Given the description of an element on the screen output the (x, y) to click on. 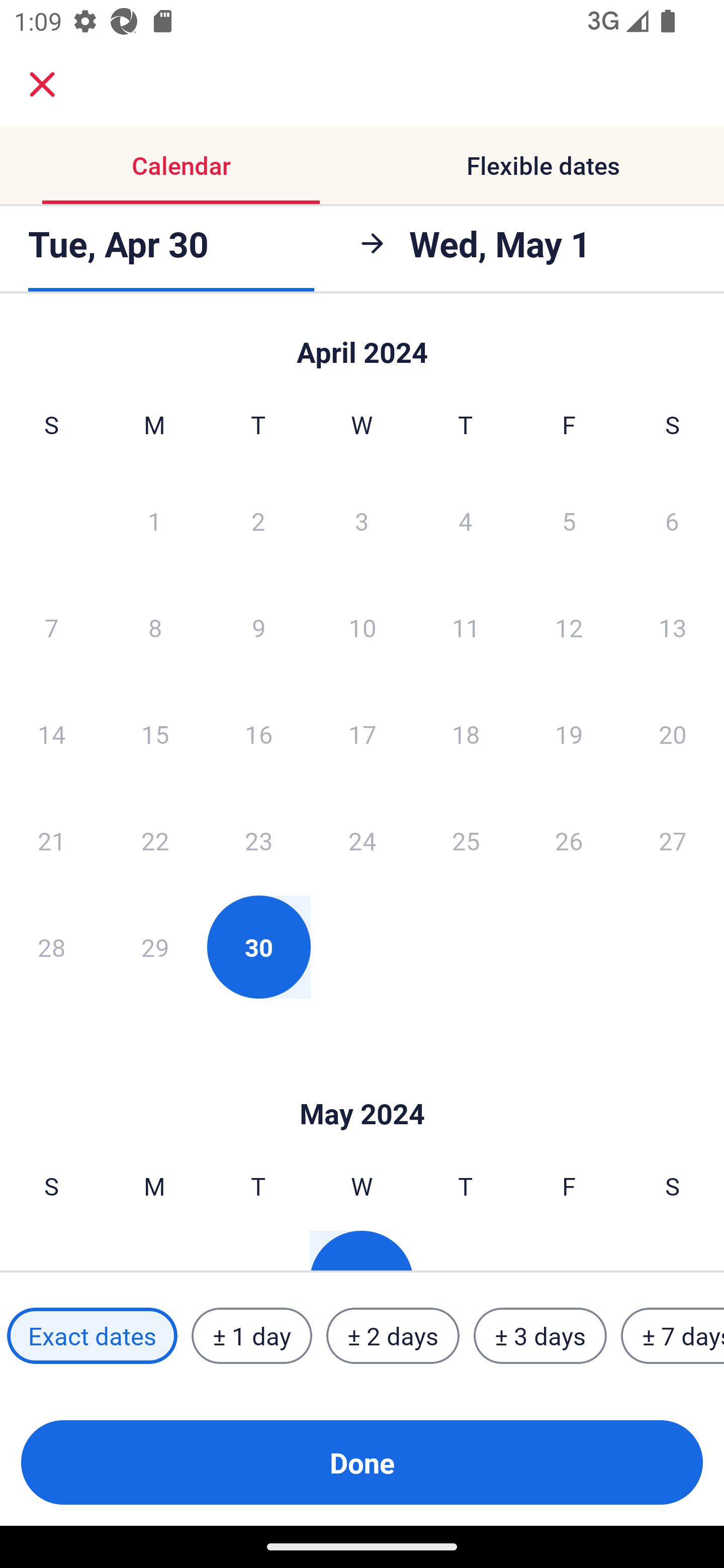
close. (42, 84)
Flexible dates (542, 164)
Skip to Done (362, 343)
1 Monday, April 1, 2024 (154, 520)
2 Tuesday, April 2, 2024 (257, 520)
3 Wednesday, April 3, 2024 (361, 520)
4 Thursday, April 4, 2024 (465, 520)
5 Friday, April 5, 2024 (568, 520)
6 Saturday, April 6, 2024 (672, 520)
7 Sunday, April 7, 2024 (51, 626)
8 Monday, April 8, 2024 (155, 626)
9 Tuesday, April 9, 2024 (258, 626)
10 Wednesday, April 10, 2024 (362, 626)
11 Thursday, April 11, 2024 (465, 626)
12 Friday, April 12, 2024 (569, 626)
13 Saturday, April 13, 2024 (672, 626)
14 Sunday, April 14, 2024 (51, 733)
15 Monday, April 15, 2024 (155, 733)
16 Tuesday, April 16, 2024 (258, 733)
17 Wednesday, April 17, 2024 (362, 733)
18 Thursday, April 18, 2024 (465, 733)
19 Friday, April 19, 2024 (569, 733)
20 Saturday, April 20, 2024 (672, 733)
21 Sunday, April 21, 2024 (51, 840)
22 Monday, April 22, 2024 (155, 840)
23 Tuesday, April 23, 2024 (258, 840)
24 Wednesday, April 24, 2024 (362, 840)
25 Thursday, April 25, 2024 (465, 840)
26 Friday, April 26, 2024 (569, 840)
27 Saturday, April 27, 2024 (672, 840)
28 Sunday, April 28, 2024 (51, 946)
29 Monday, April 29, 2024 (155, 946)
Skip to Done (362, 1083)
2 Thursday, May 2, 2024 (464, 1250)
3 Friday, May 3, 2024 (568, 1250)
4 Saturday, May 4, 2024 (672, 1250)
Exact dates (92, 1335)
± 1 day (251, 1335)
± 2 days (392, 1335)
± 3 days (539, 1335)
± 7 days (672, 1335)
Done (361, 1462)
